Given the description of an element on the screen output the (x, y) to click on. 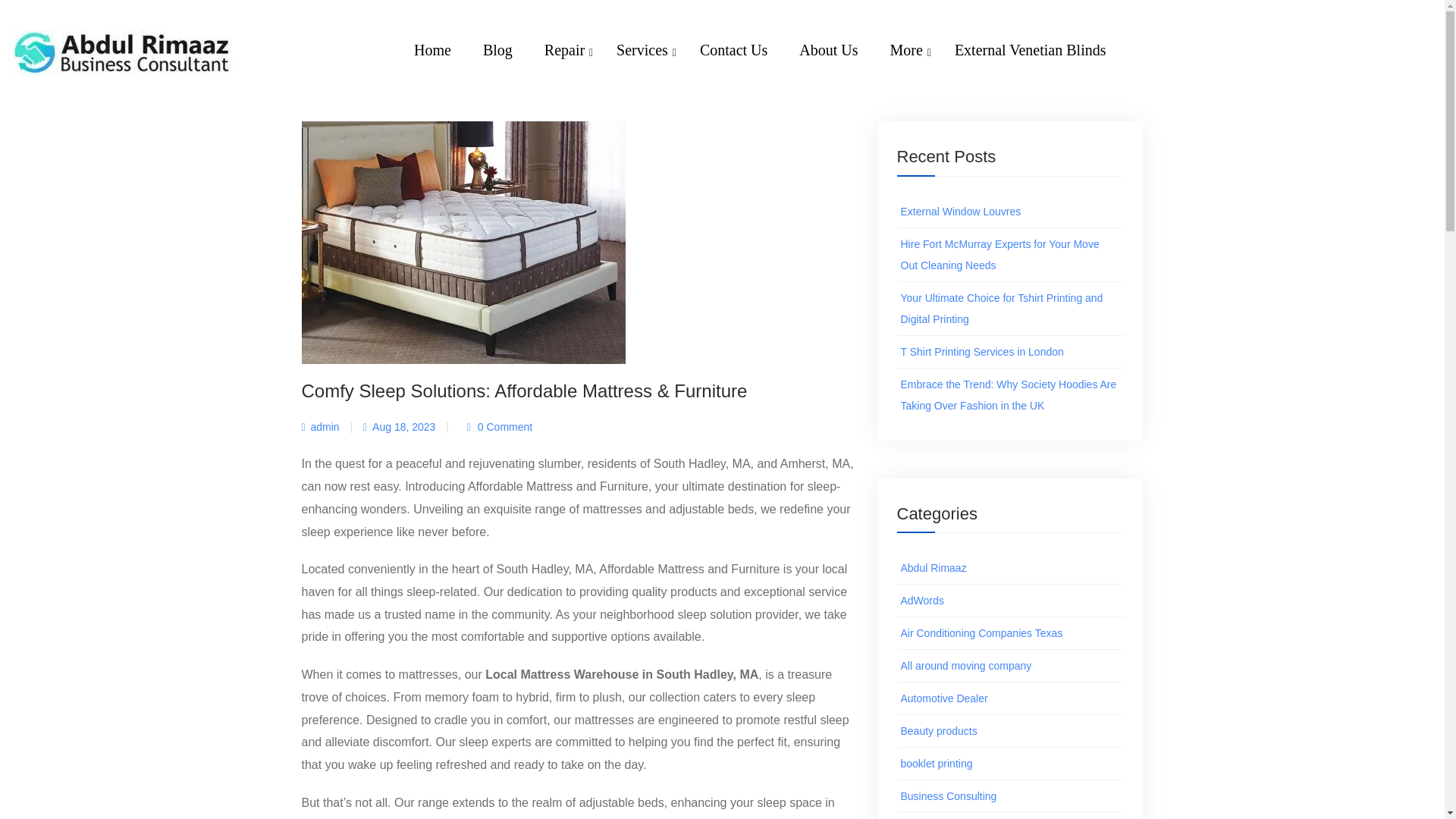
Services (651, 52)
Repair (796, 68)
Blog (779, 68)
Home (773, 70)
